Given the description of an element on the screen output the (x, y) to click on. 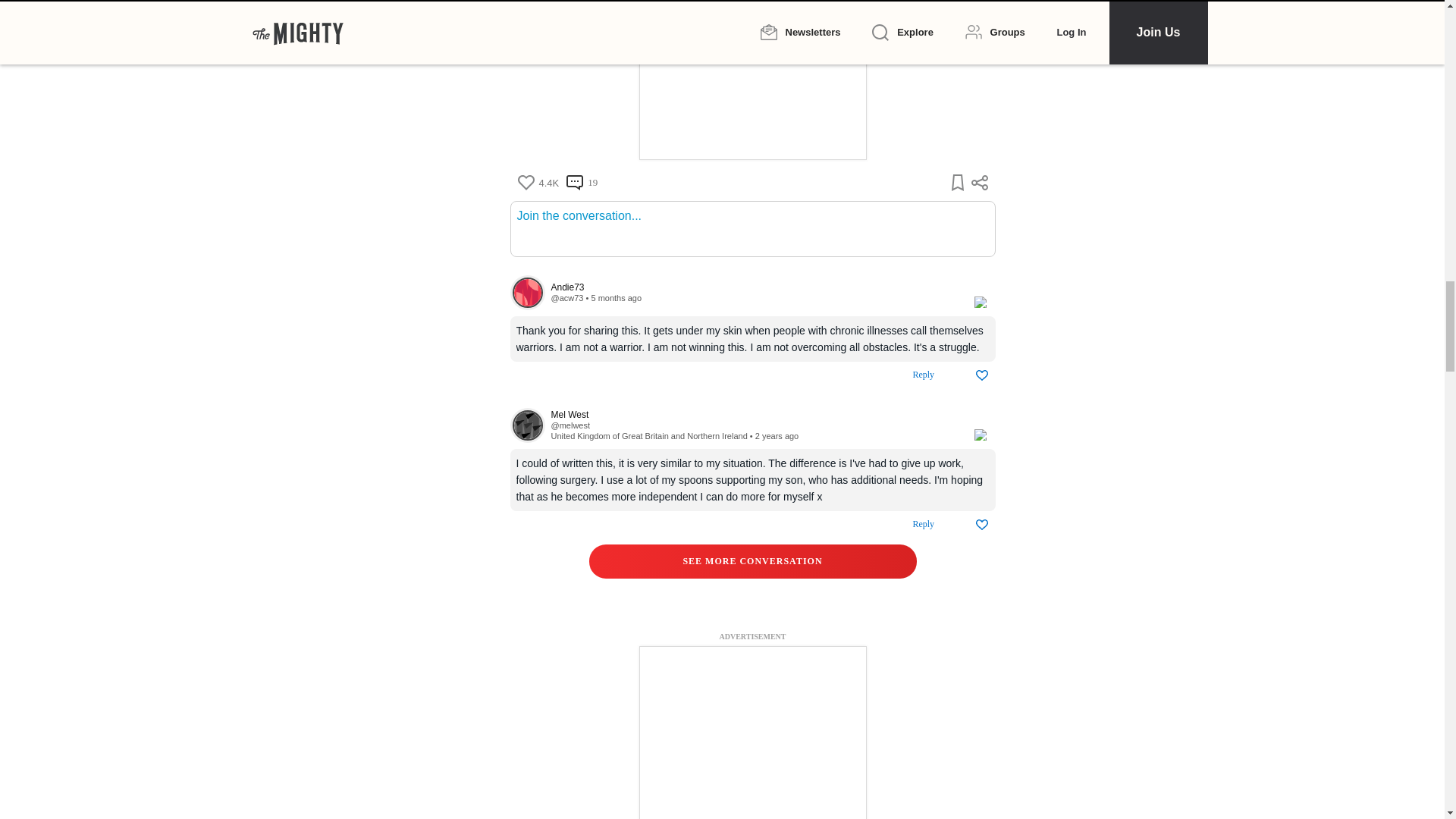
View their profile (754, 415)
View their profile (526, 292)
View their profile (566, 297)
View their profile (569, 424)
View their profile (526, 425)
View their profile (754, 287)
